Given the description of an element on the screen output the (x, y) to click on. 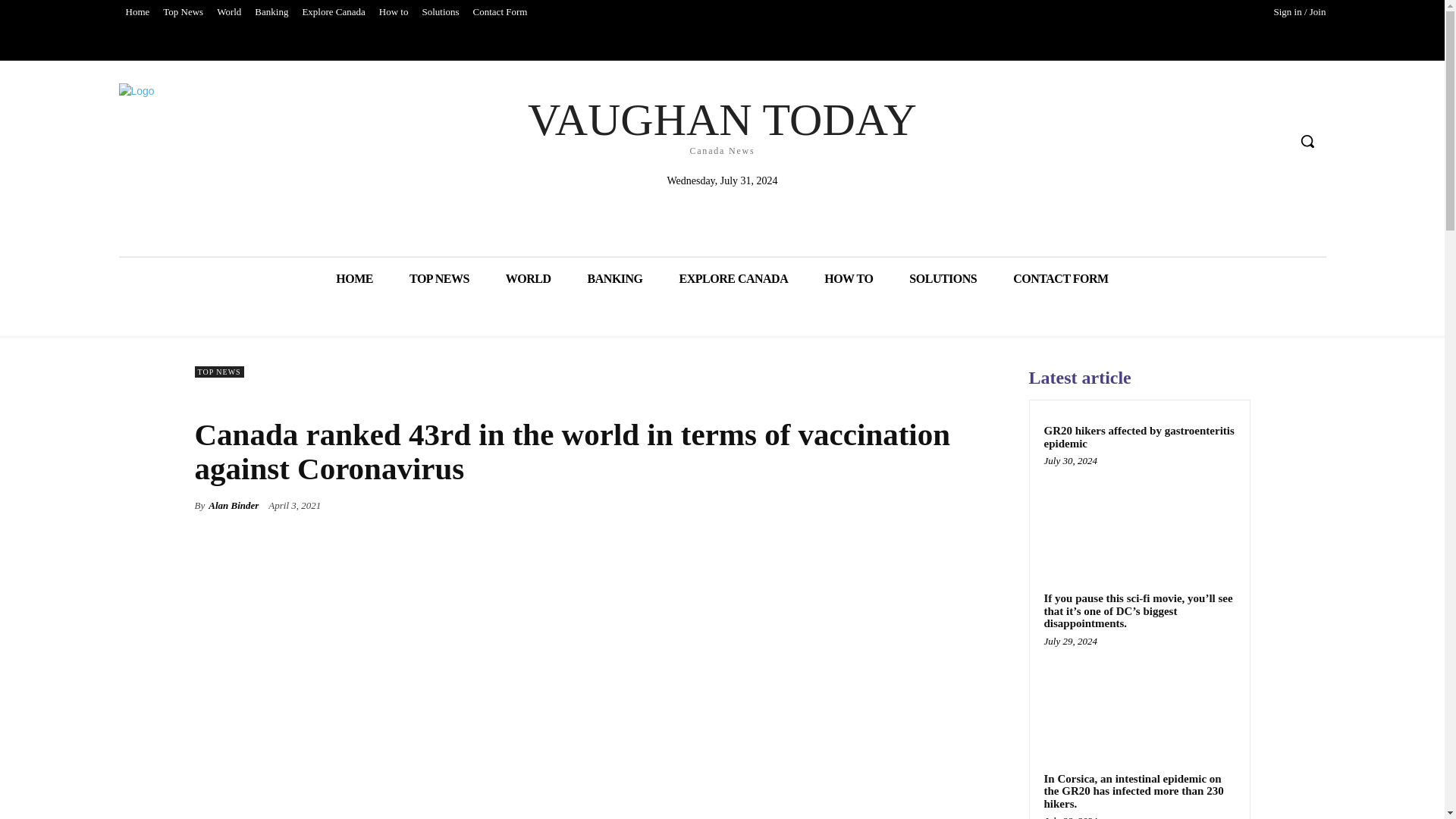
HOW TO (848, 278)
Banking (721, 124)
Explore Canada (271, 12)
Contact Form (333, 12)
World (499, 12)
EXPLORE CANADA (228, 12)
BANKING (733, 278)
How to (615, 278)
Home (393, 12)
HOME (136, 12)
SOLUTIONS (354, 278)
TOP NEWS (942, 278)
Top News (439, 278)
WORLD (182, 12)
